Given the description of an element on the screen output the (x, y) to click on. 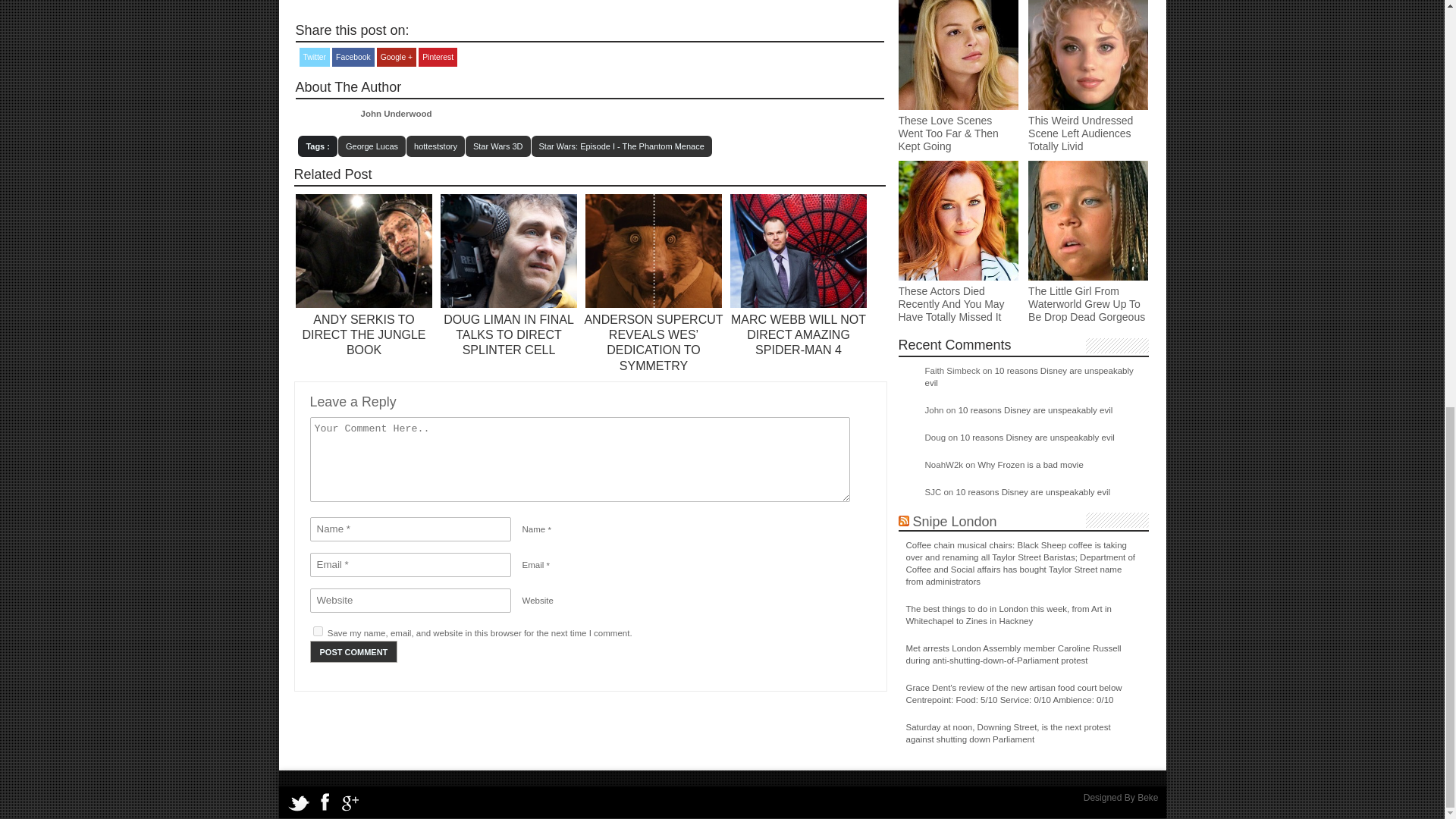
Twitter (314, 56)
Facebook (352, 56)
Andy Serkis to direct The Jungle Book (363, 304)
John Underwood (396, 112)
Pinterest (438, 56)
Doug Liman in final talks to direct Splinter Cell (508, 334)
Andy Serkis to direct The Jungle Book (363, 334)
Tweet this! (314, 56)
Marc Webb will not direct Amazing Spider-Man 4 (798, 334)
Posts by John Underwood (396, 112)
Share on Pinterest! (438, 56)
hotteststory (435, 146)
Share on Facebook! (352, 56)
Marc Webb will not direct Amazing Spider-Man 4 (798, 304)
George Lucas (371, 146)
